Given the description of an element on the screen output the (x, y) to click on. 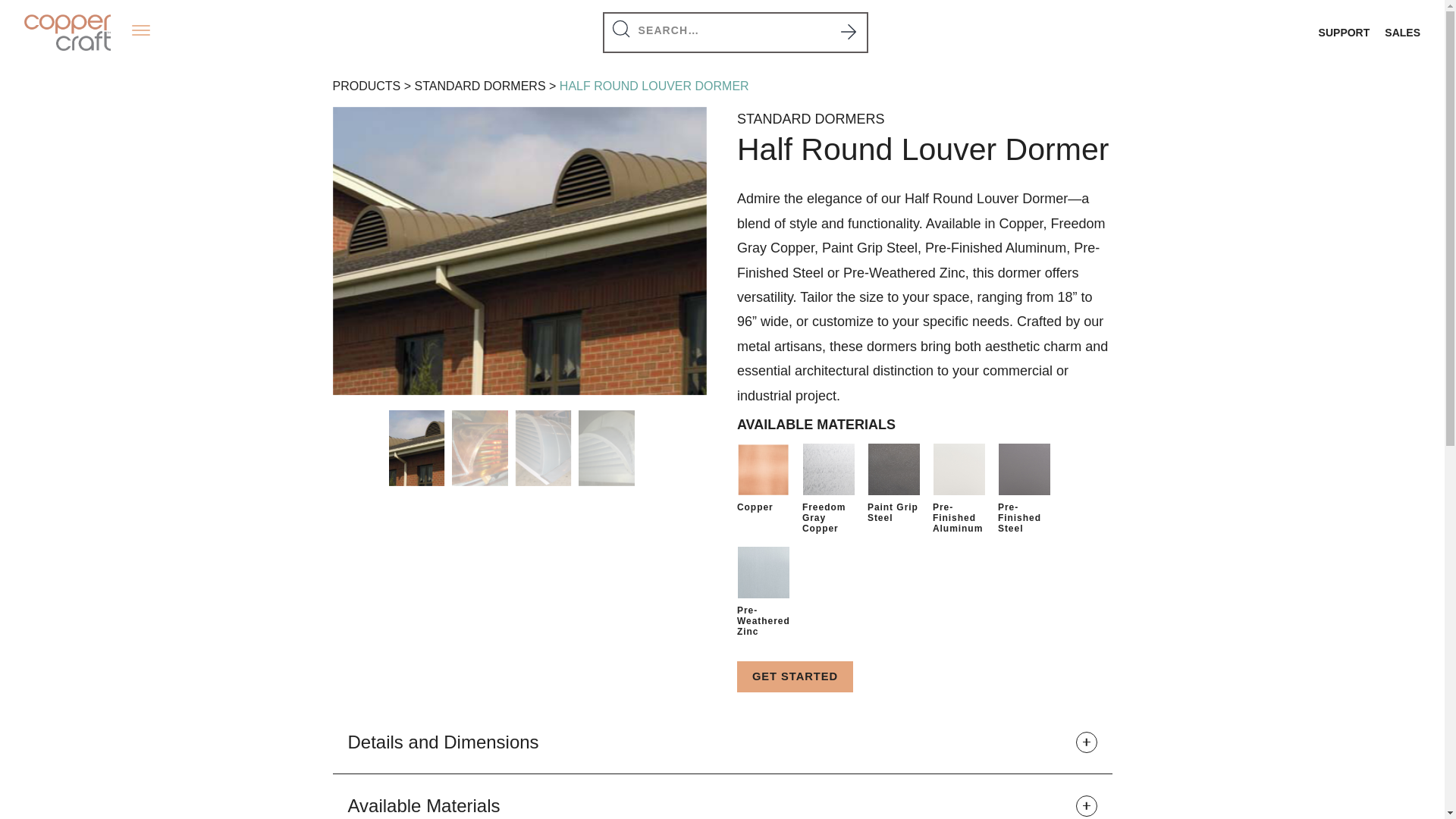
SALES (1402, 32)
Pre-Finished Steel (1024, 469)
Pre-Weathered Zinc (763, 572)
Pre-Finished Aluminum (959, 469)
Copper (763, 469)
Paint Grip Steel (893, 469)
Freedom Gray Copper (829, 469)
SUPPORT (1344, 32)
